Given the description of an element on the screen output the (x, y) to click on. 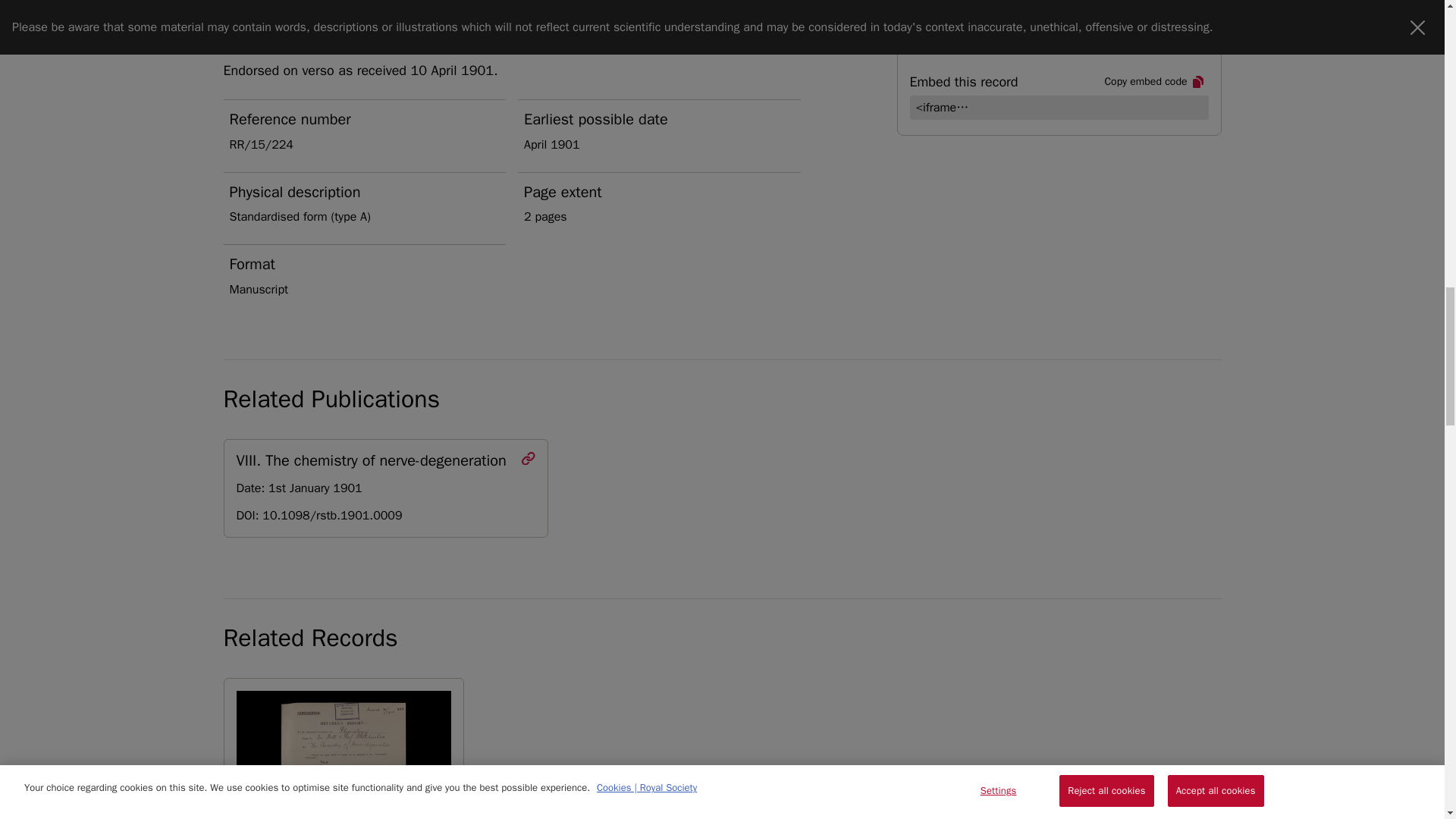
Copy link (1174, 11)
Copy embed code (1154, 81)
